Given the description of an element on the screen output the (x, y) to click on. 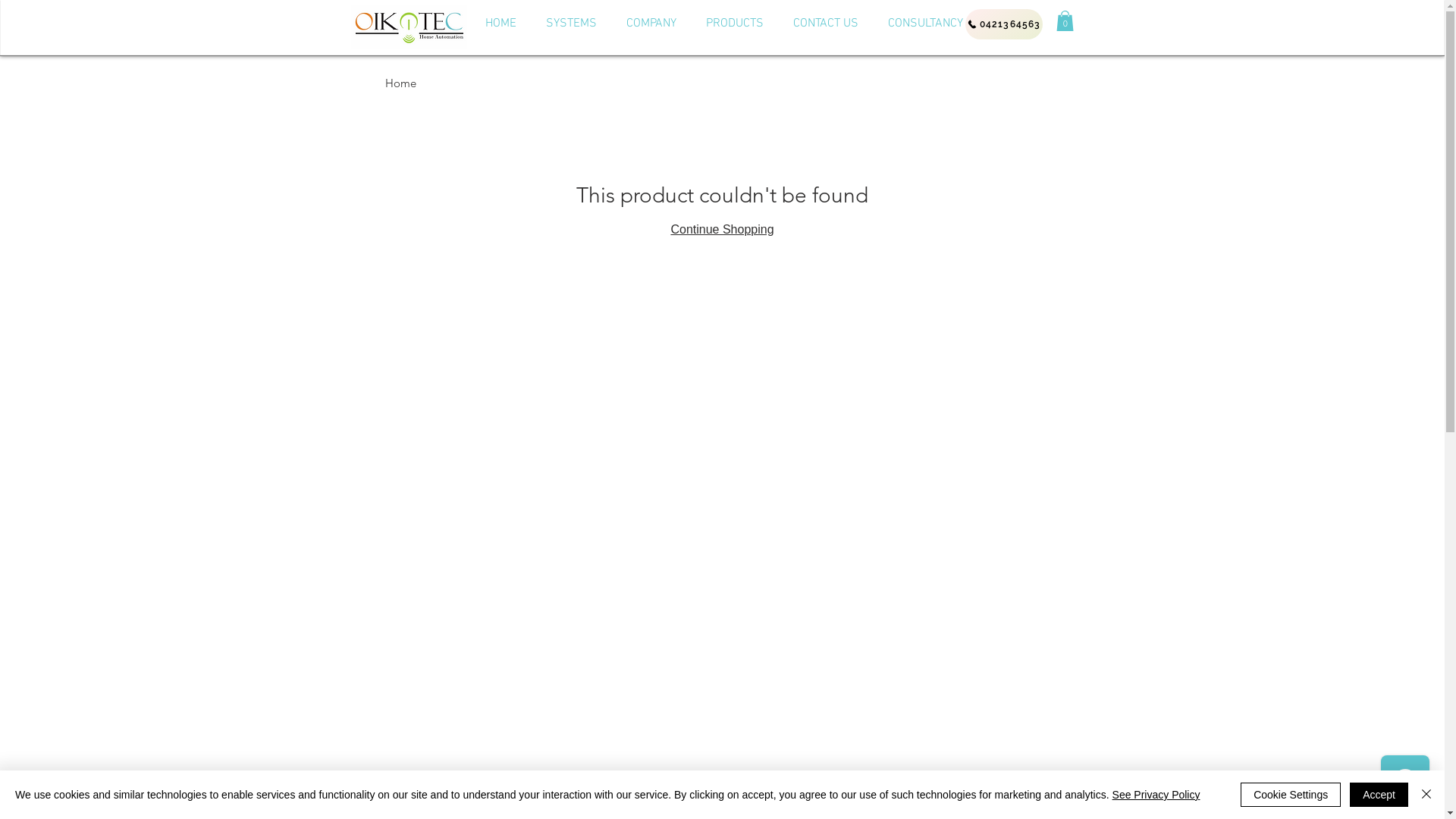
PRODUCTS Element type: text (734, 23)
CONTACT US Element type: text (825, 23)
Continue Shopping Element type: text (721, 228)
Cookie Settings Element type: text (1290, 794)
Home Element type: text (400, 82)
Accept Element type: text (1378, 794)
HOME Element type: text (500, 23)
COMPANY Element type: text (650, 23)
0 Element type: text (1064, 20)
CONSULTANCY Element type: text (925, 23)
See Privacy Policy Element type: text (1156, 794)
0421364563 Element type: text (1002, 24)
